Given the description of an element on the screen output the (x, y) to click on. 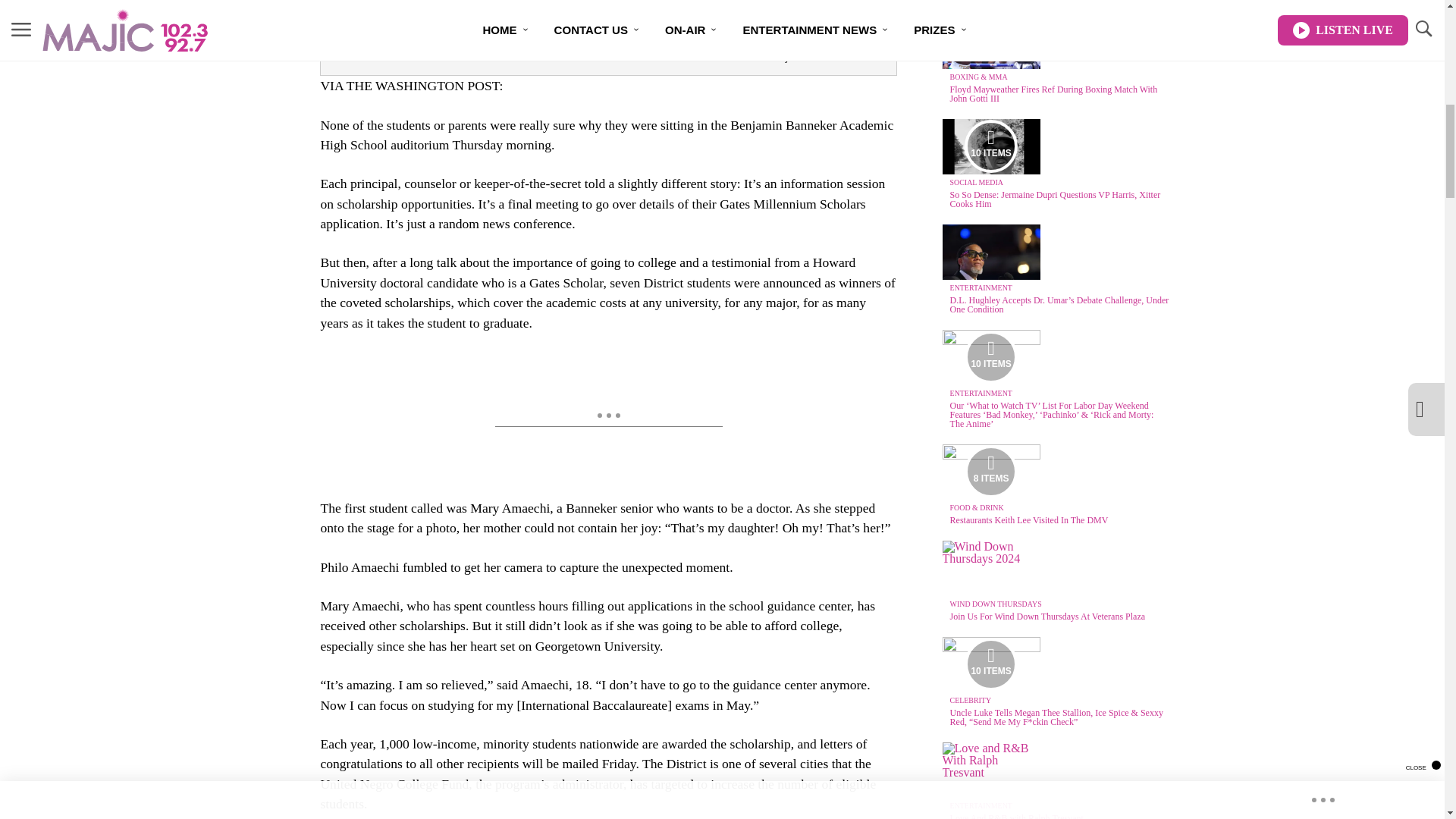
Media Playlist (990, 145)
Media Playlist (990, 471)
Media Playlist (990, 357)
Media Playlist (990, 664)
